Given the description of an element on the screen output the (x, y) to click on. 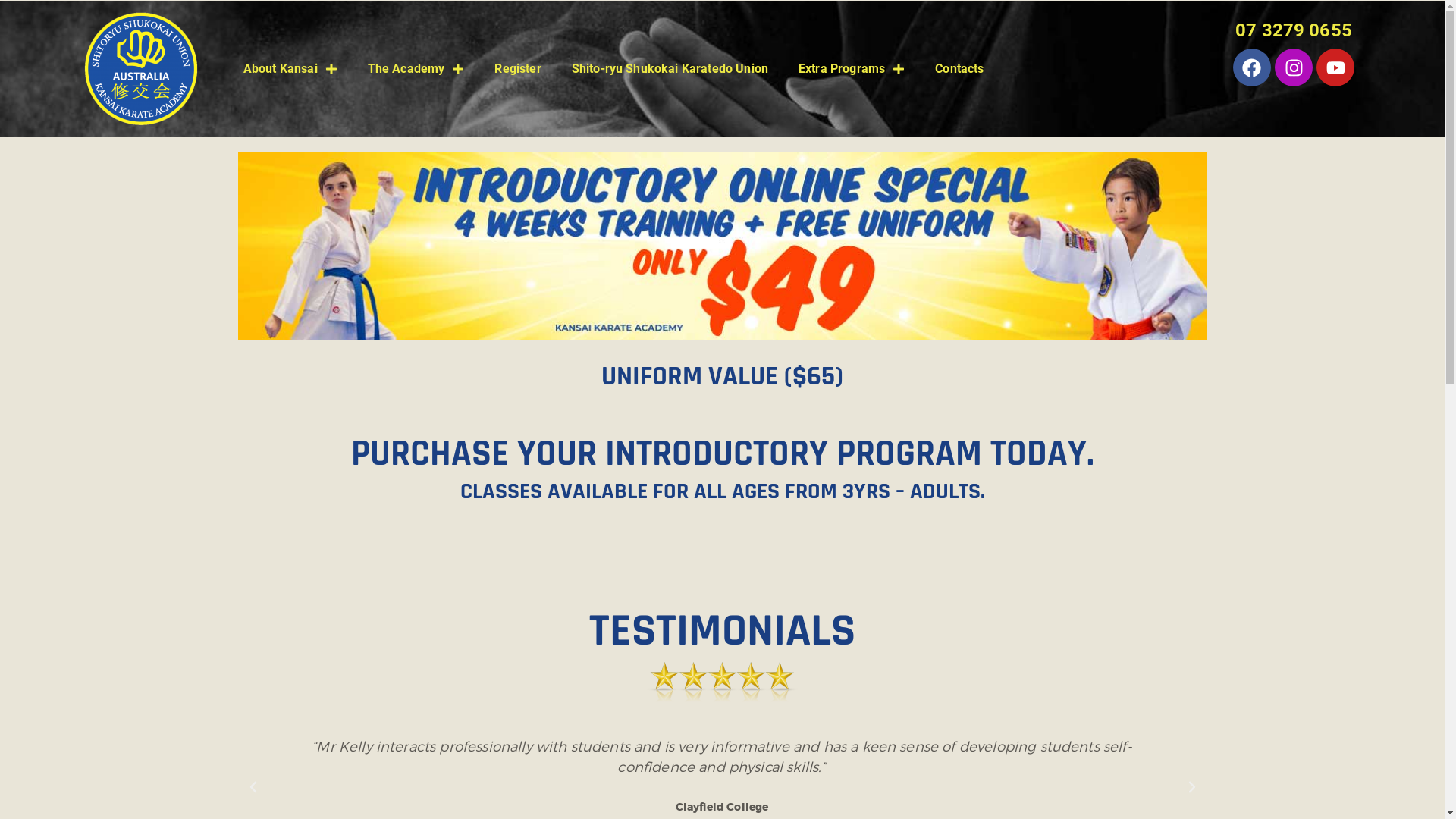
Extra Programs Element type: text (851, 68)
Contacts Element type: text (958, 68)
Register Element type: text (517, 68)
About Kansai Element type: text (290, 68)
The Academy Element type: text (416, 68)
Shito-ryu Shukokai Karatedo Union Element type: text (669, 68)
